Given the description of an element on the screen output the (x, y) to click on. 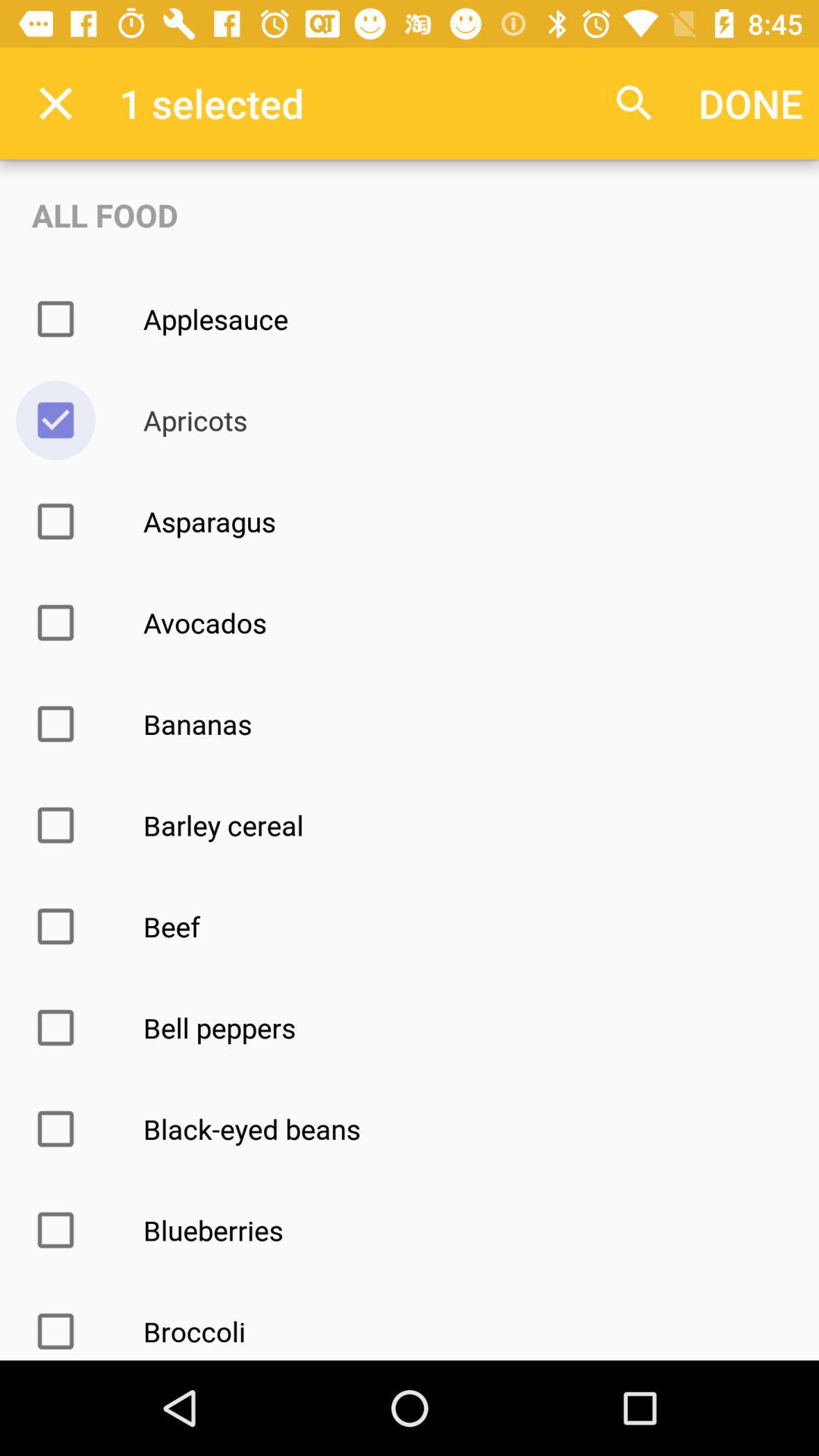
click icon next to done icon (634, 103)
